Given the description of an element on the screen output the (x, y) to click on. 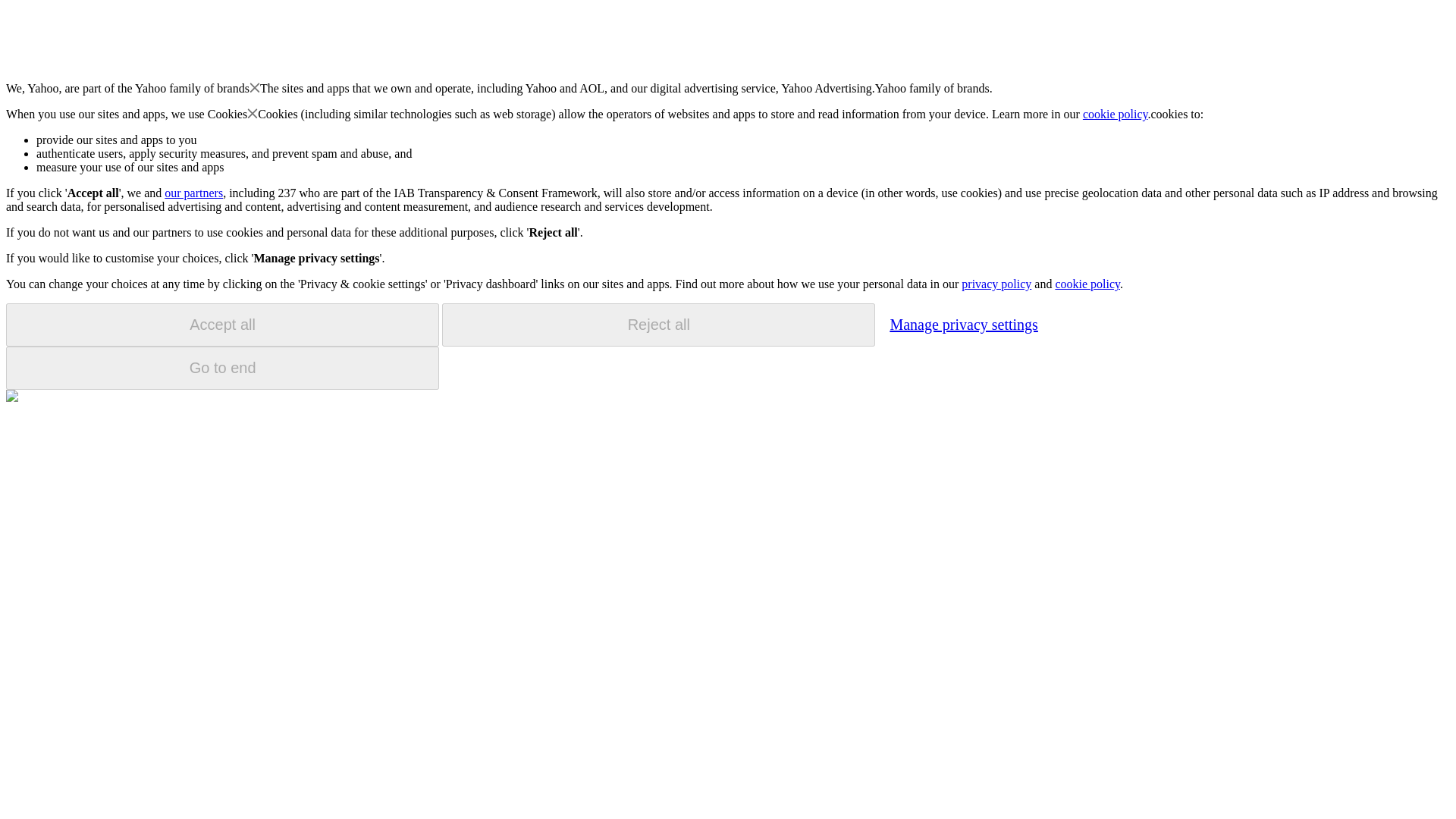
our partners (193, 192)
cookie policy (1086, 283)
Manage privacy settings (963, 323)
privacy policy (995, 283)
Go to end (222, 367)
cookie policy (1115, 113)
Accept all (222, 324)
Reject all (658, 324)
